Given the description of an element on the screen output the (x, y) to click on. 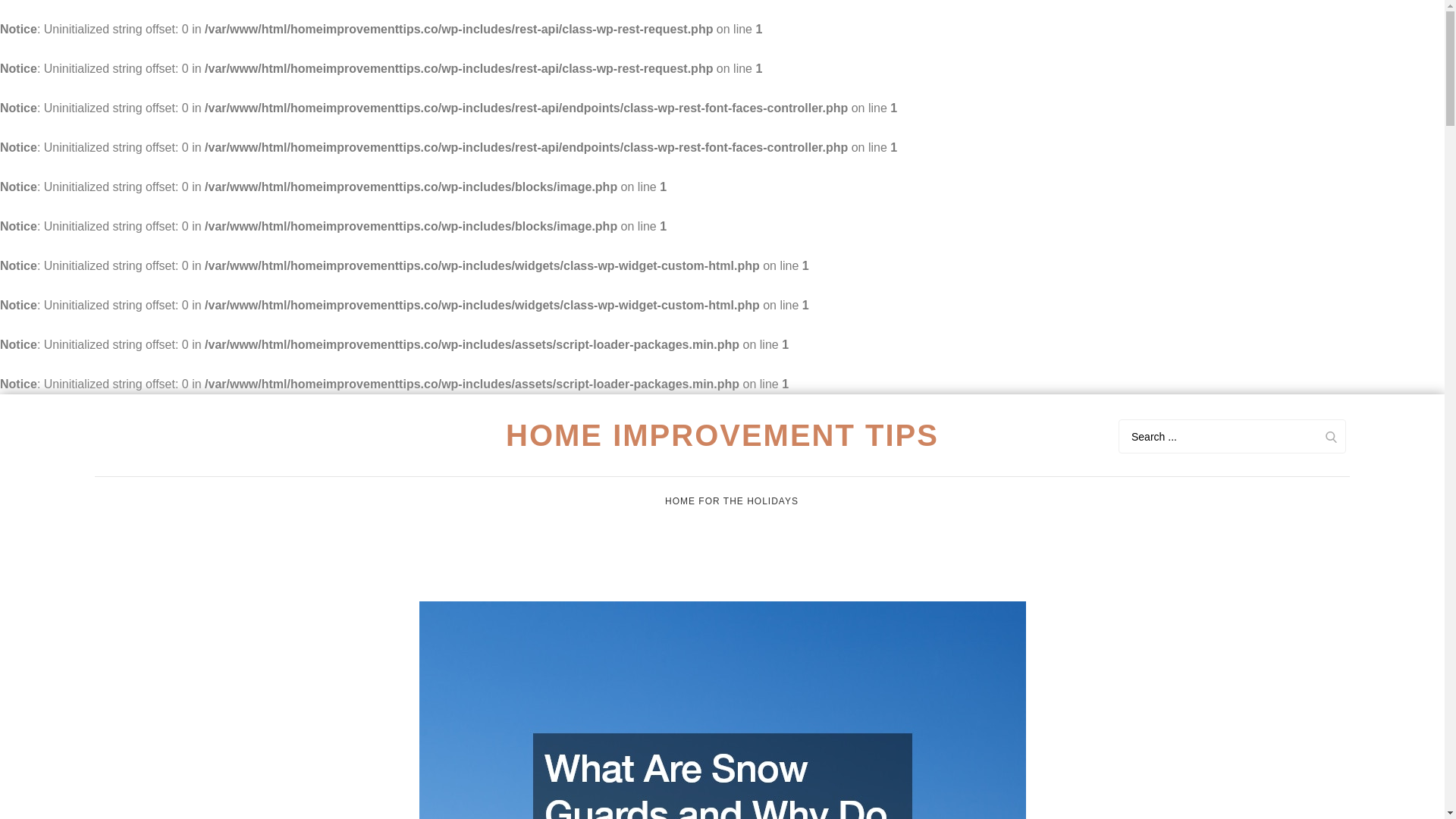
HOME IMPROVEMENT TIPS (722, 435)
HOME FOR THE HOLIDAYS (731, 500)
Search (1330, 436)
Search for: (1231, 436)
